Given the description of an element on the screen output the (x, y) to click on. 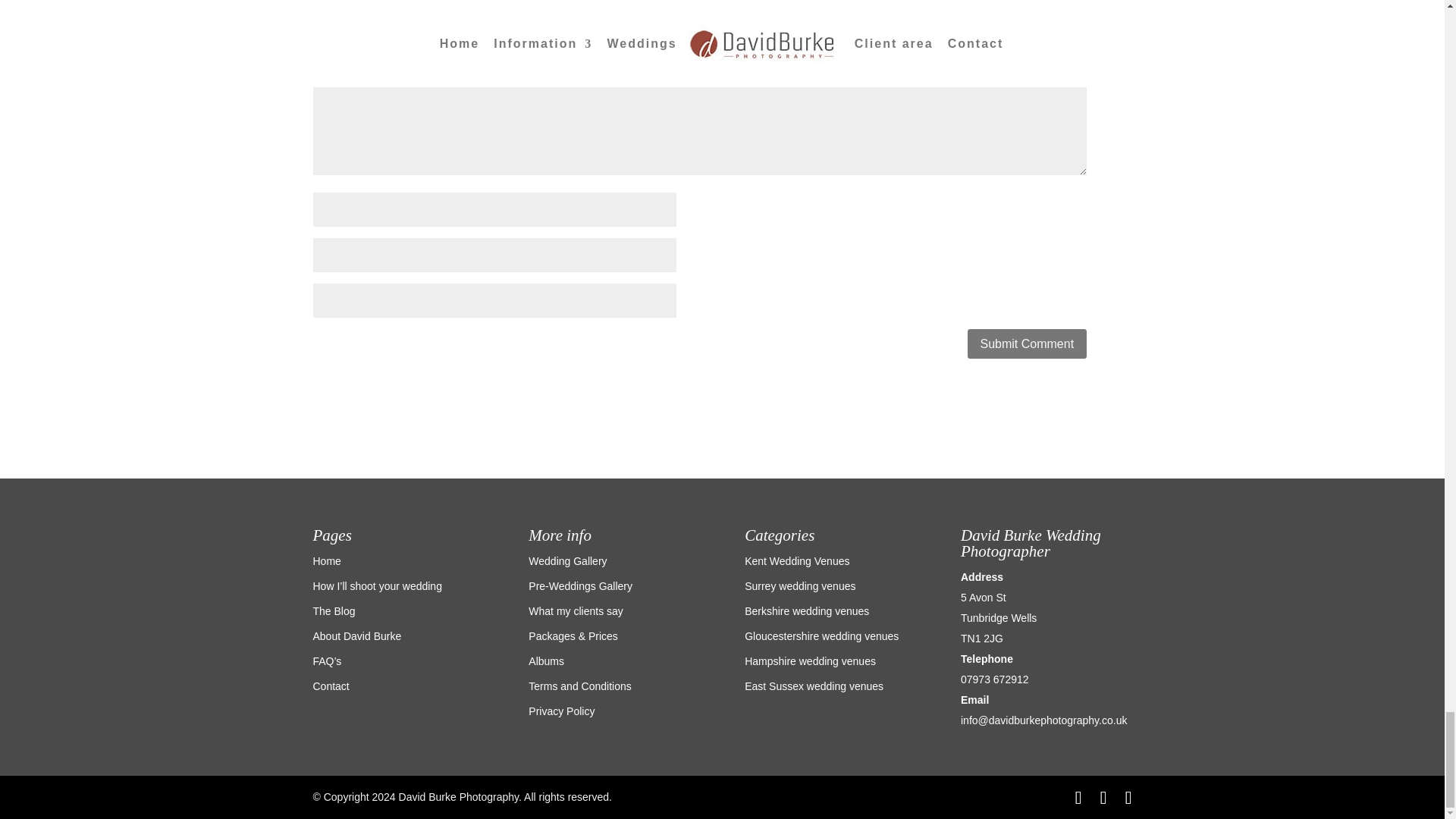
The Blog (334, 611)
Submit Comment (1027, 343)
Home (326, 561)
Submit Comment (1027, 343)
About David Burke (357, 635)
